Given the description of an element on the screen output the (x, y) to click on. 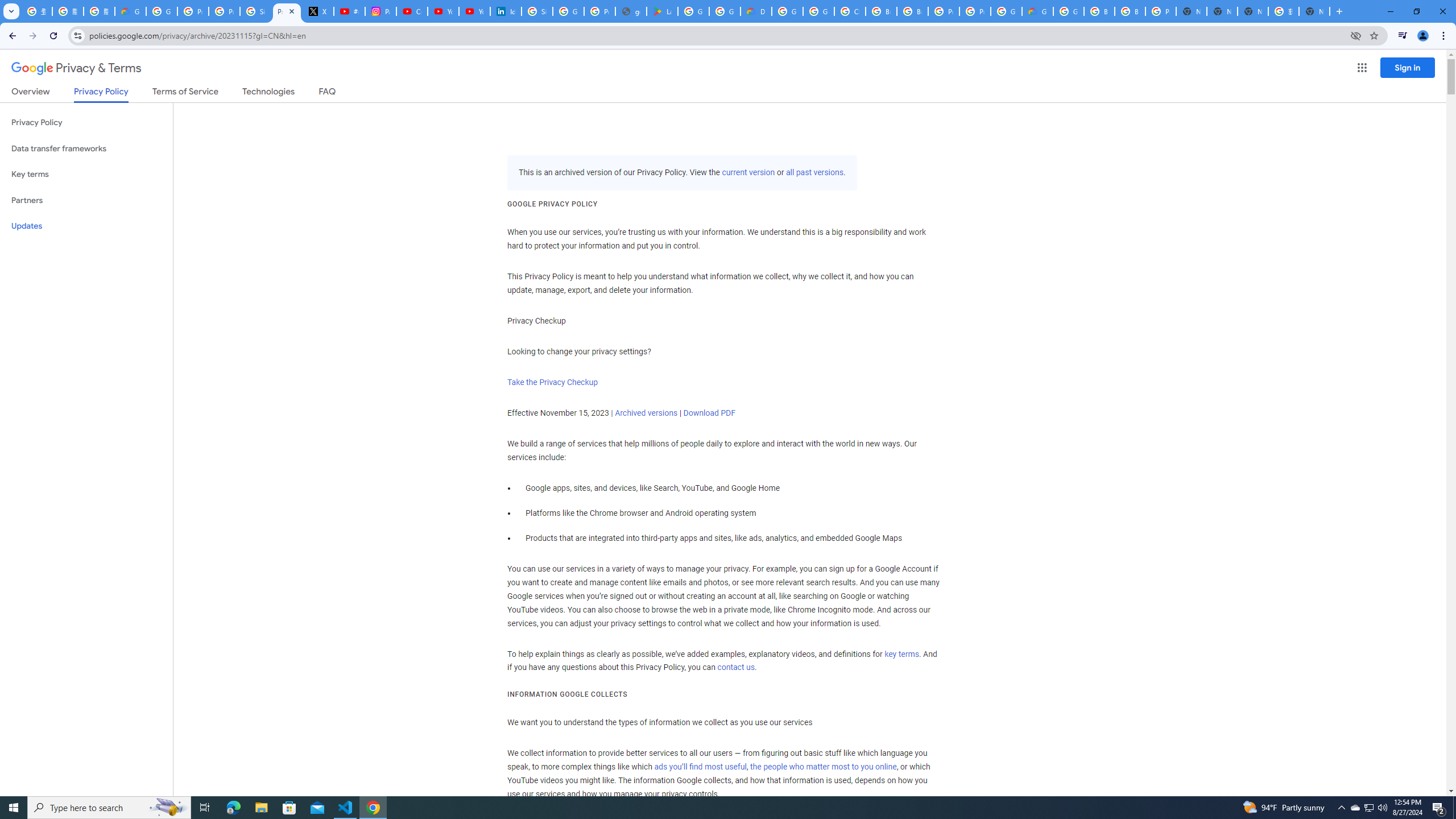
the people who matter most to you online (822, 766)
Google Cloud Privacy Notice (130, 11)
Privacy Help Center - Policies Help (223, 11)
Partners (86, 199)
key terms (900, 653)
New Tab (1190, 11)
Data transfer frameworks (86, 148)
Browse Chrome as a guest - Computer - Google Chrome Help (881, 11)
